Given the description of an element on the screen output the (x, y) to click on. 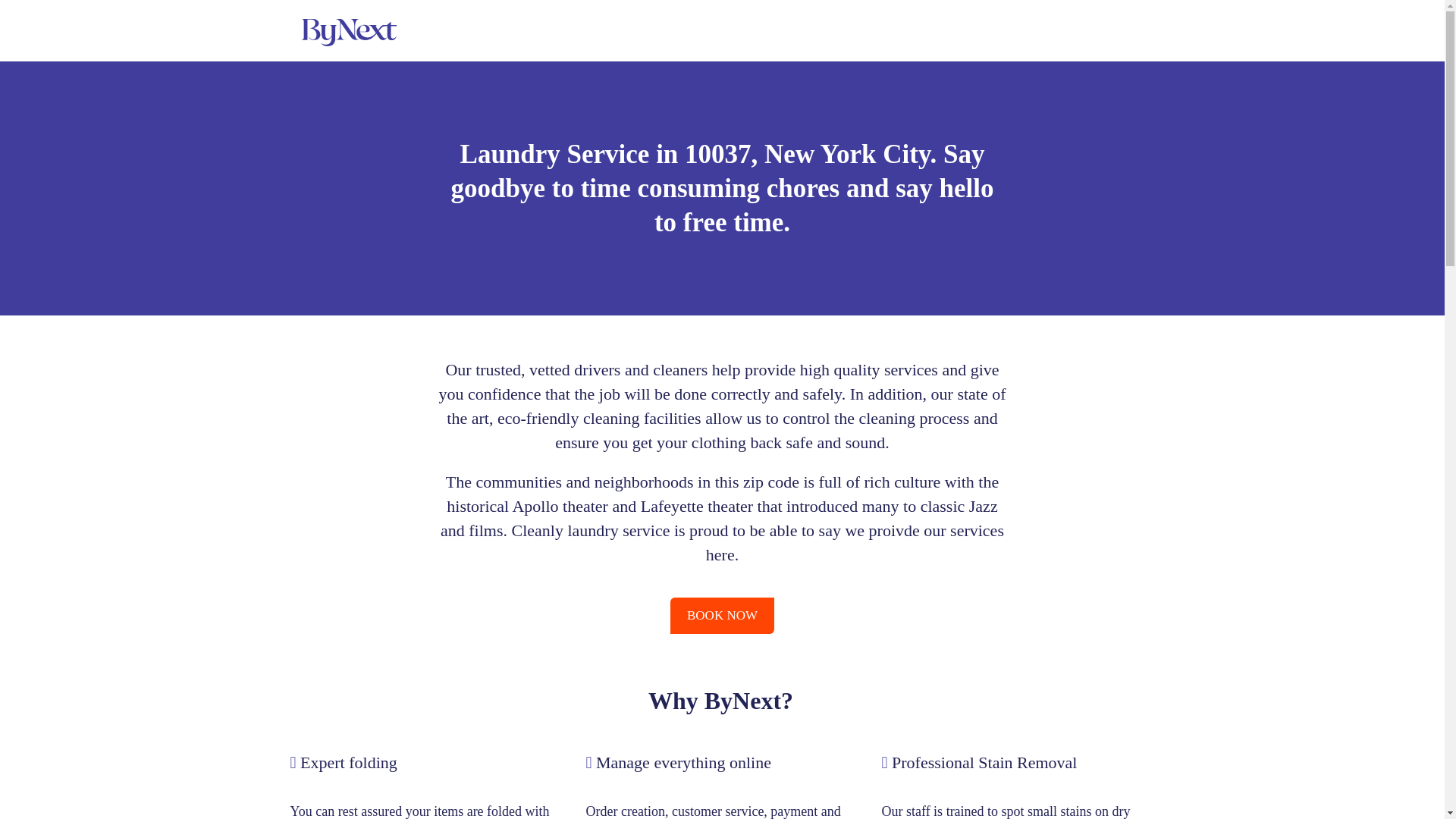
BOOK NOW (721, 615)
